Given the description of an element on the screen output the (x, y) to click on. 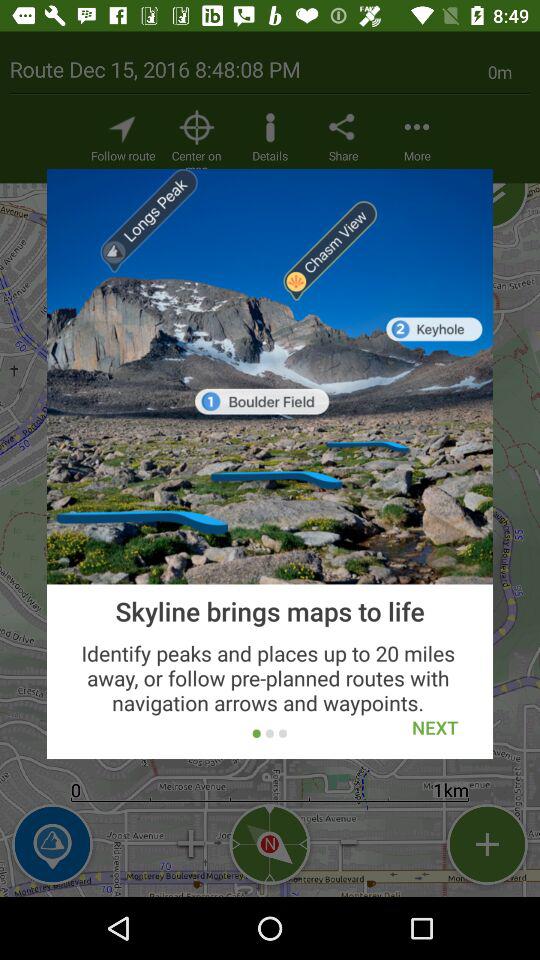
click next (435, 727)
